Given the description of an element on the screen output the (x, y) to click on. 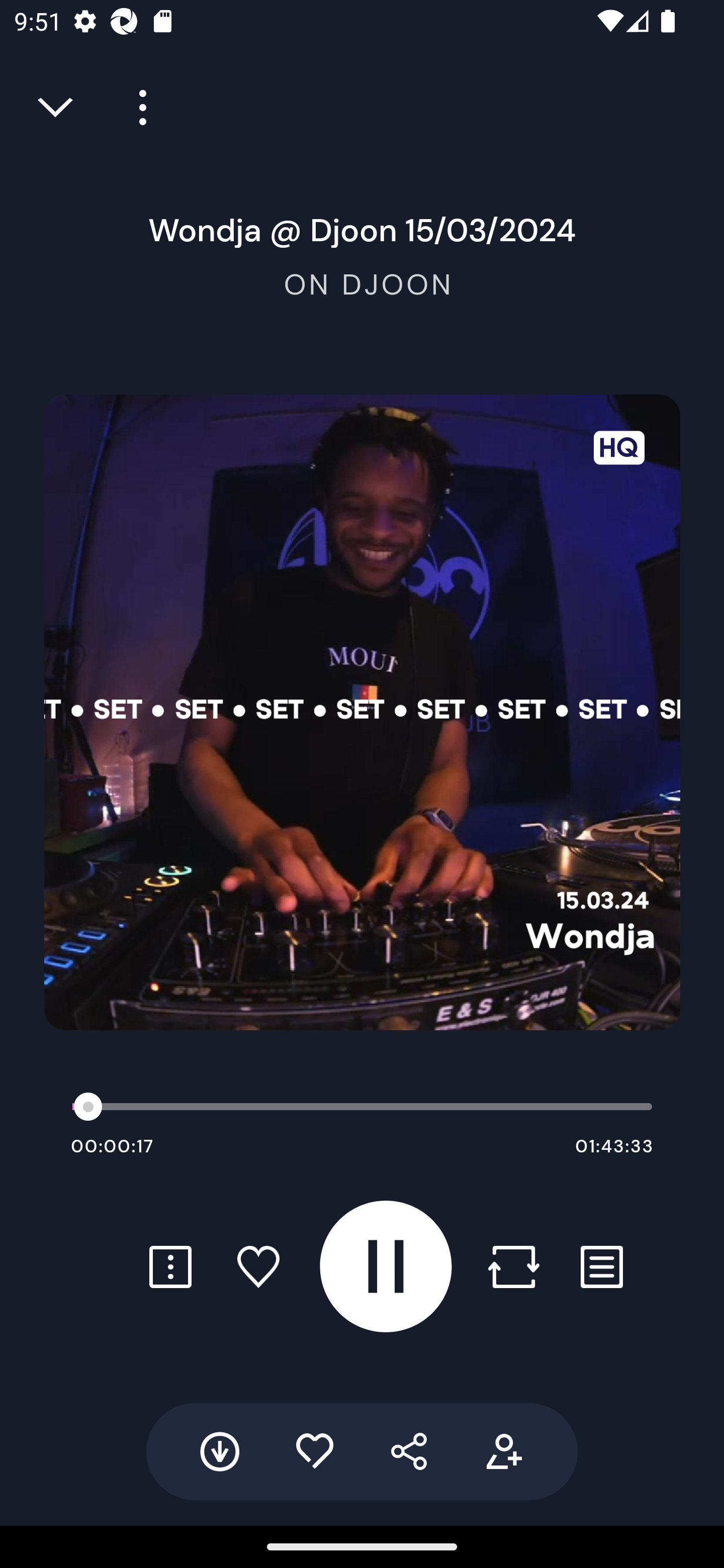
Close full player (57, 107)
Player more options button (136, 107)
 ON DJOON Wondja @ Djoon 15/03/2024  ON DJOON (361, 254)
Repost button (513, 1266)
